Given the description of an element on the screen output the (x, y) to click on. 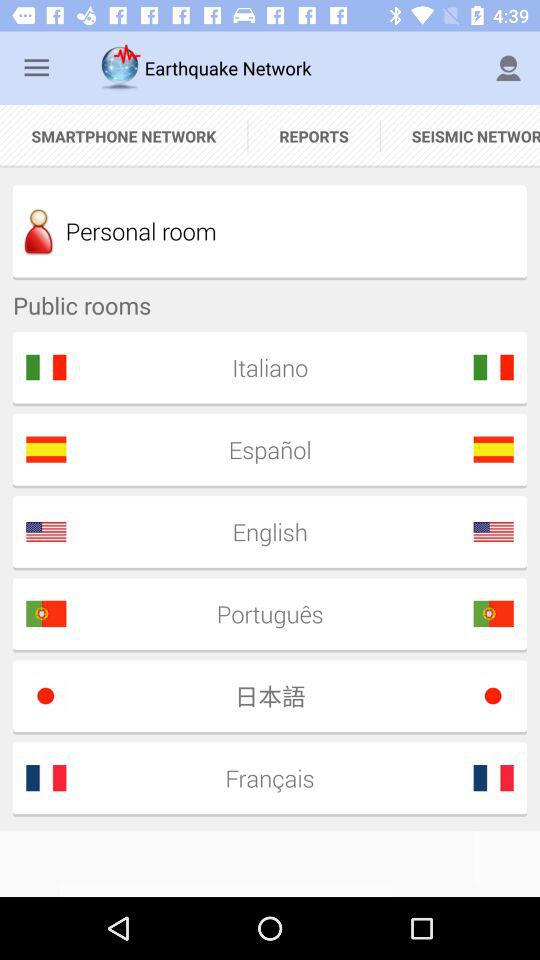
jump to italiano icon (263, 367)
